Given the description of an element on the screen output the (x, y) to click on. 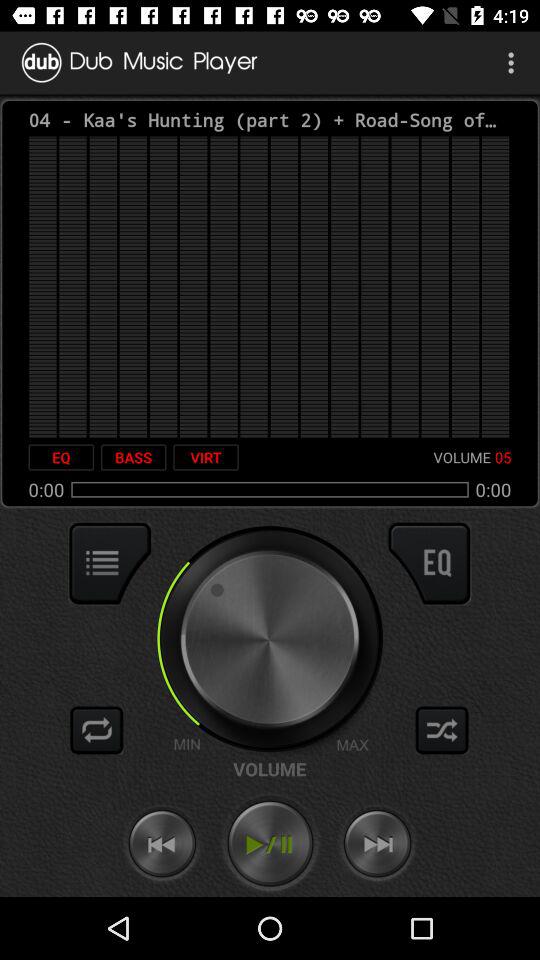
select the item to the right of the  bass  item (205, 457)
